Given the description of an element on the screen output the (x, y) to click on. 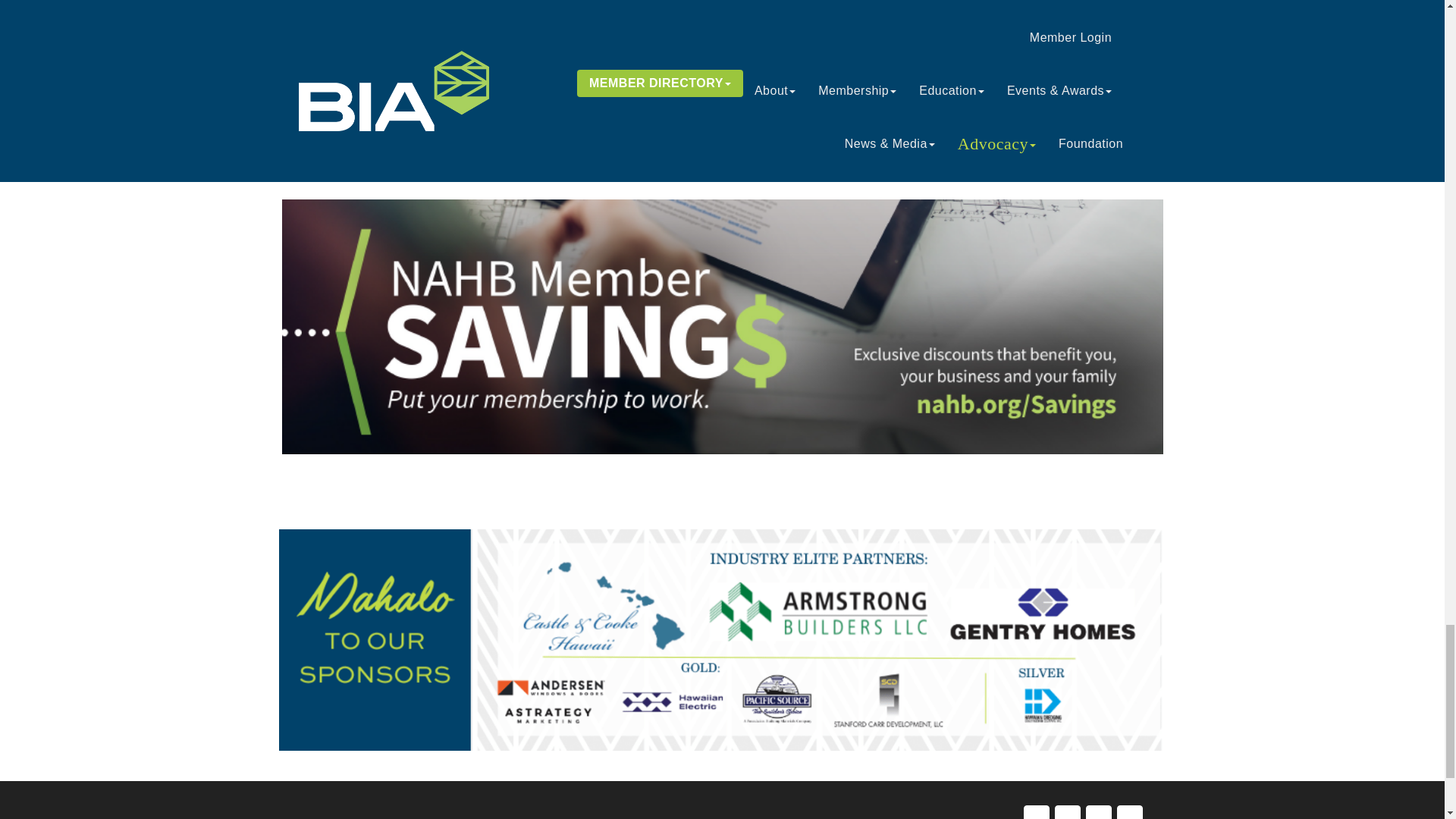
Icon Link (1128, 812)
Icon Link (1036, 812)
Icon Link (1067, 812)
Icon Link (1099, 812)
